Given the description of an element on the screen output the (x, y) to click on. 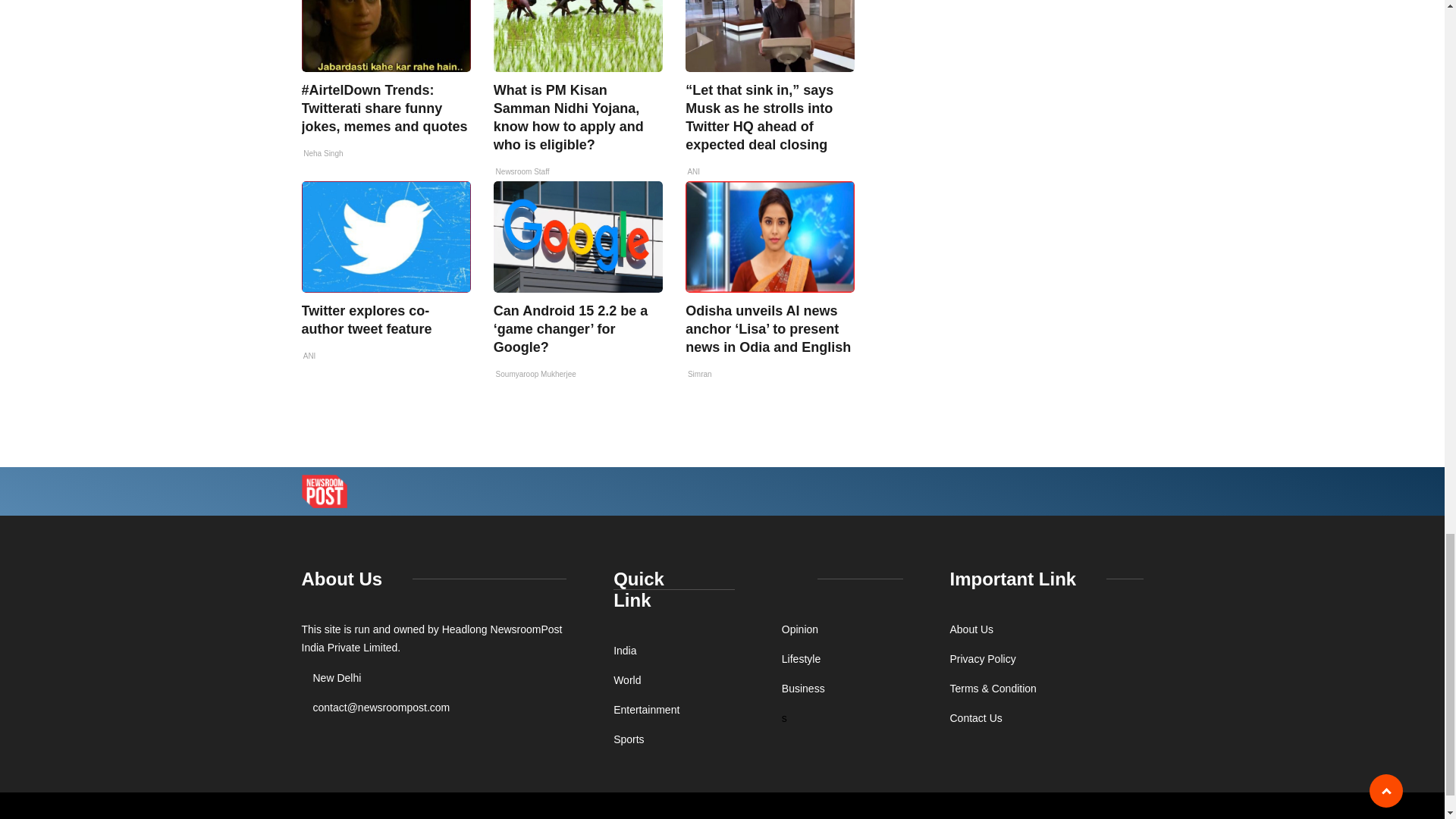
Twitter explores co-author tweet feature (385, 236)
Twitter explores co-author tweet feature (366, 319)
